Given the description of an element on the screen output the (x, y) to click on. 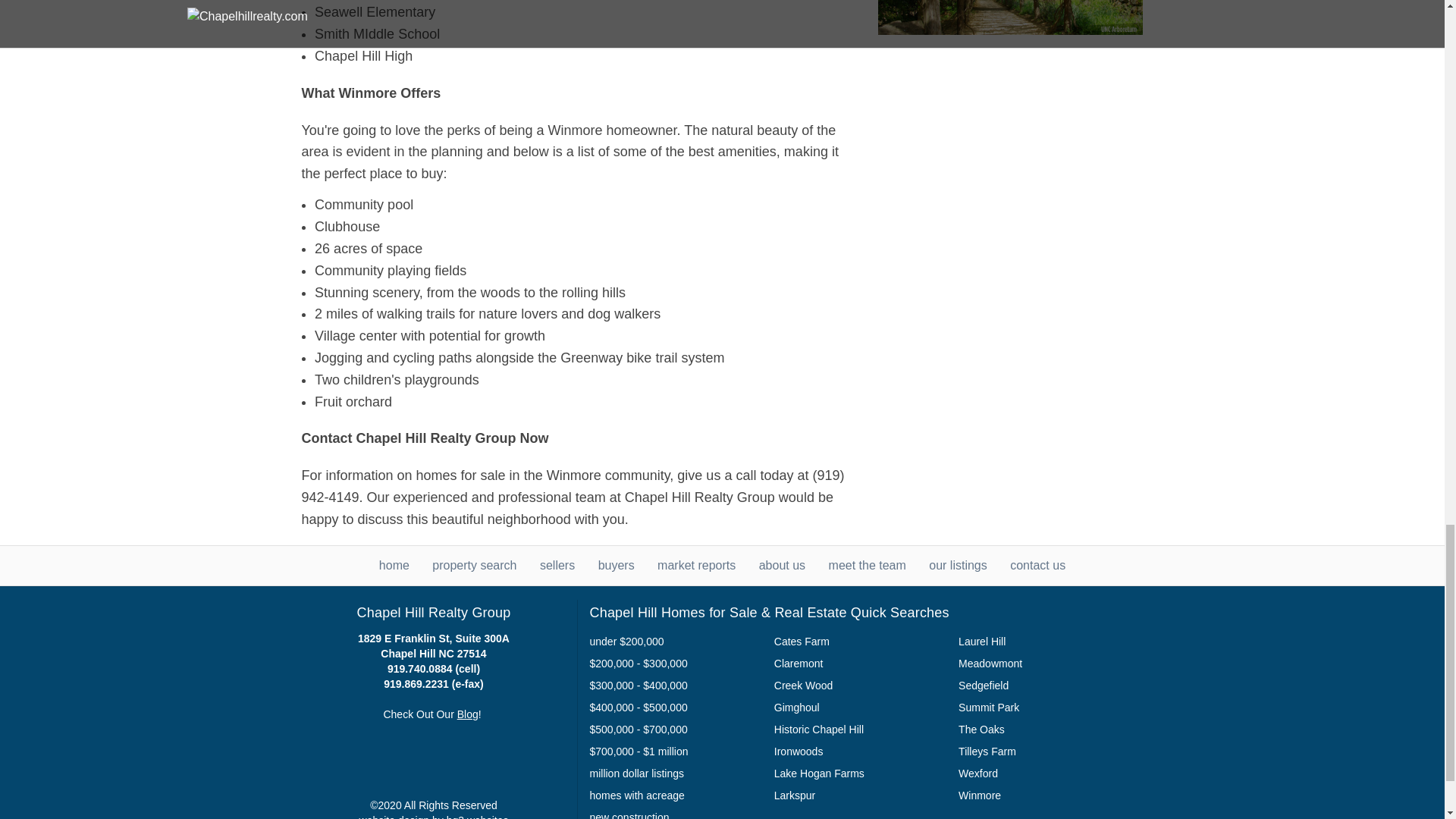
contact us (1037, 564)
Laurel Hill (982, 641)
hg3 websites (433, 816)
buyers (616, 564)
meet the team (866, 564)
property search (474, 564)
sellers (557, 564)
home (393, 564)
Cates Farm (801, 641)
market reports (696, 564)
about us (781, 564)
website design by hg3 websites (433, 816)
our listings (957, 564)
Blog (468, 714)
